Given the description of an element on the screen output the (x, y) to click on. 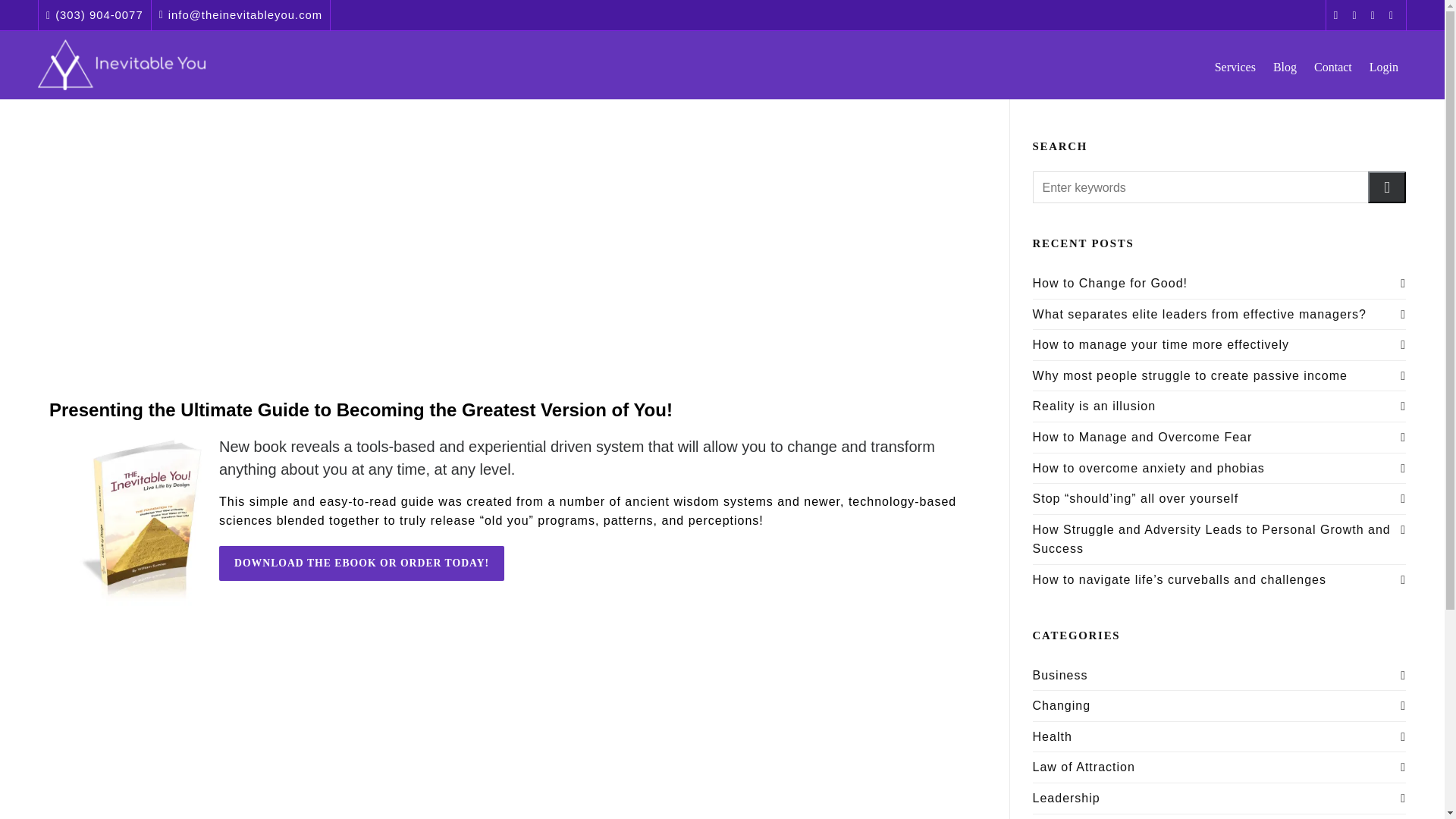
DOWNLOAD THE EBOOK OR ORDER TODAY! (361, 563)
Reality is an illusion (1219, 406)
Business (1059, 675)
Health (1051, 736)
Law of Attraction (1083, 766)
How to manage your time more effectively (1219, 344)
Changing (1061, 705)
Why most people struggle to create passive income (1219, 375)
What separates elite leaders from effective managers? (1219, 314)
